Given the description of an element on the screen output the (x, y) to click on. 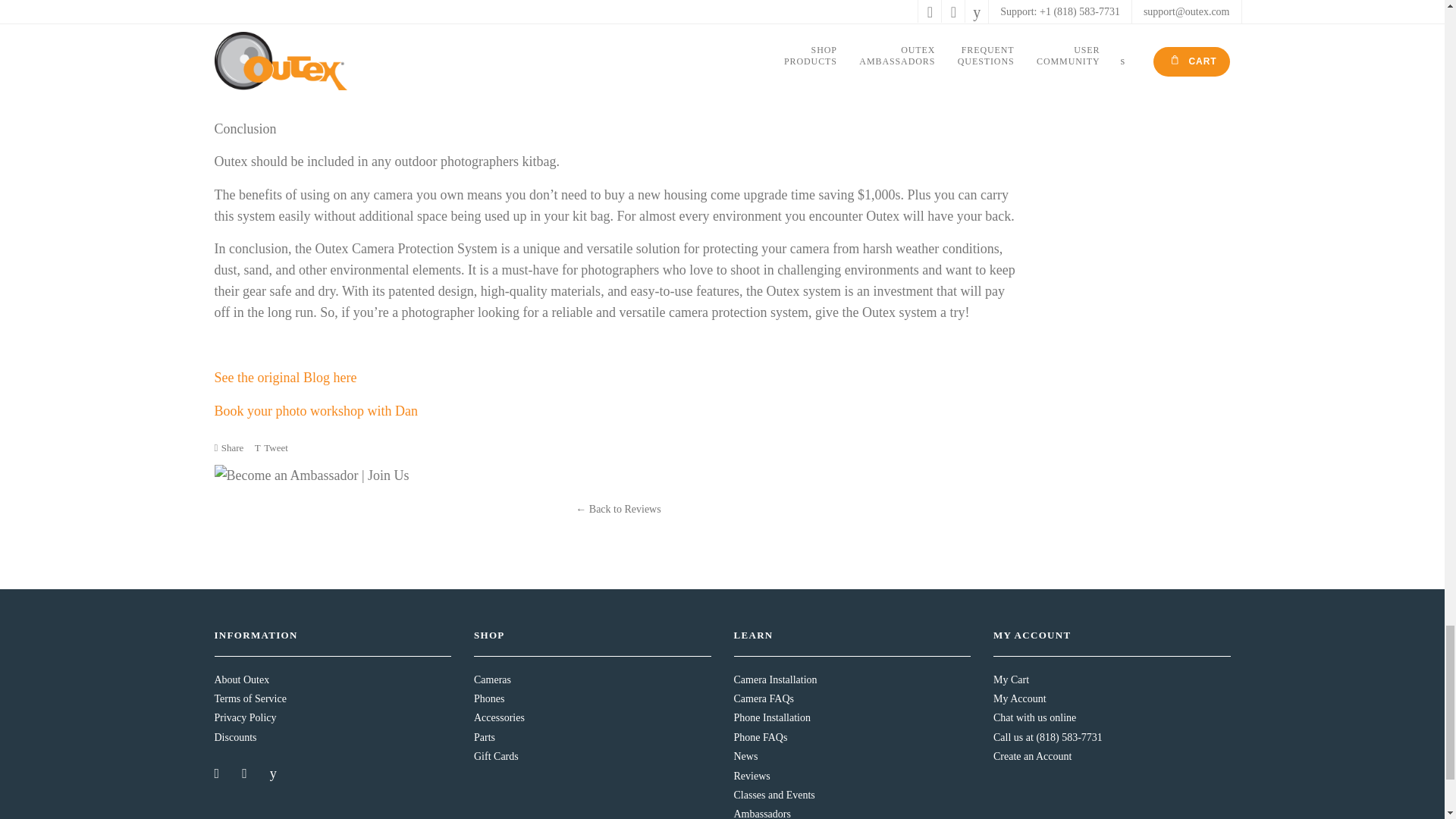
Dan M Lee Outex review (285, 377)
Outex Underwater Camera Housings on YouTube (275, 773)
YouTube video player (618, 37)
Book your photo workshop with Dan (315, 410)
